Given the description of an element on the screen output the (x, y) to click on. 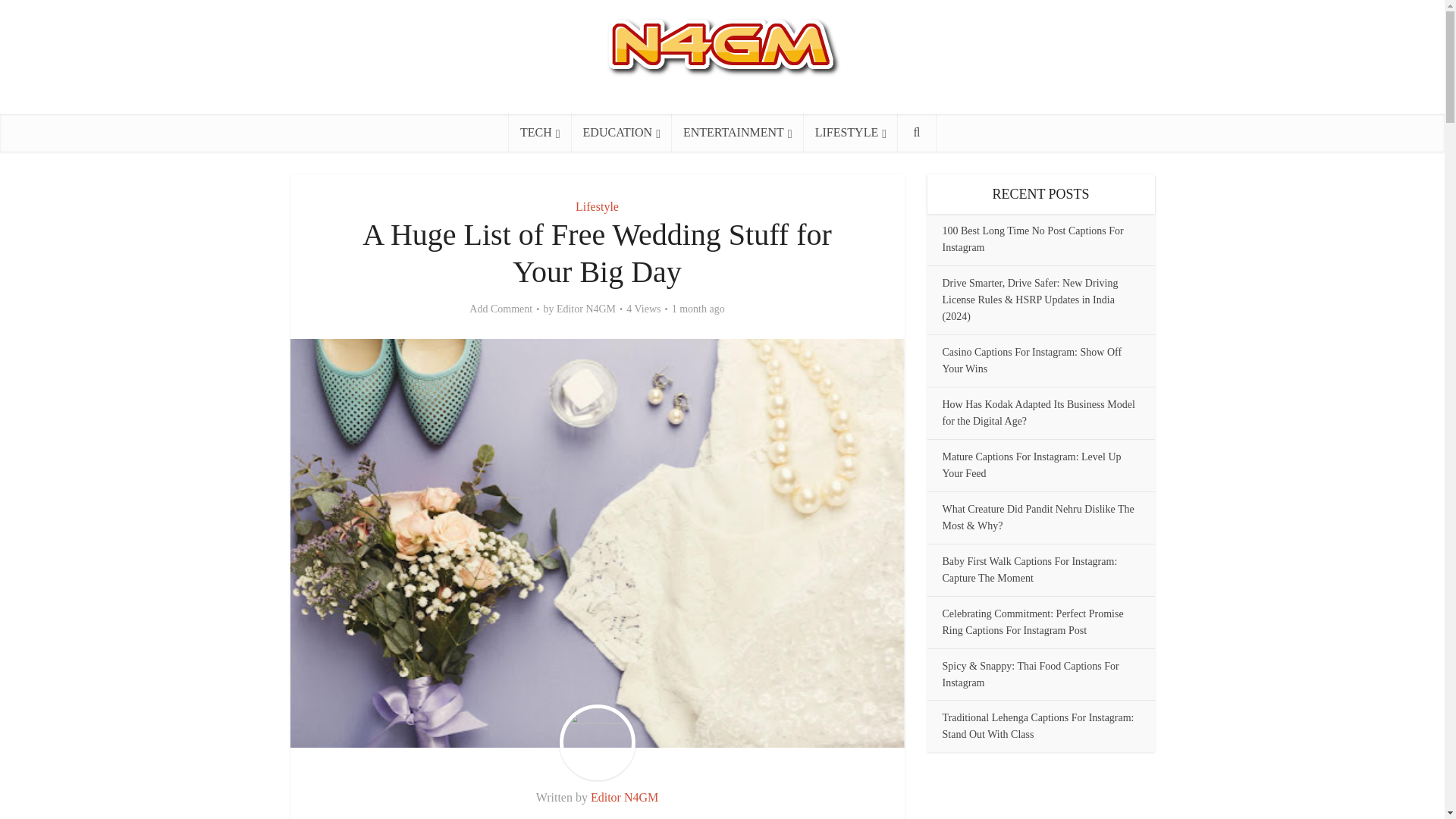
EDUCATION (621, 132)
ENTERTAINMENT (737, 132)
TECH (540, 132)
LIFESTYLE (850, 132)
